Given the description of an element on the screen output the (x, y) to click on. 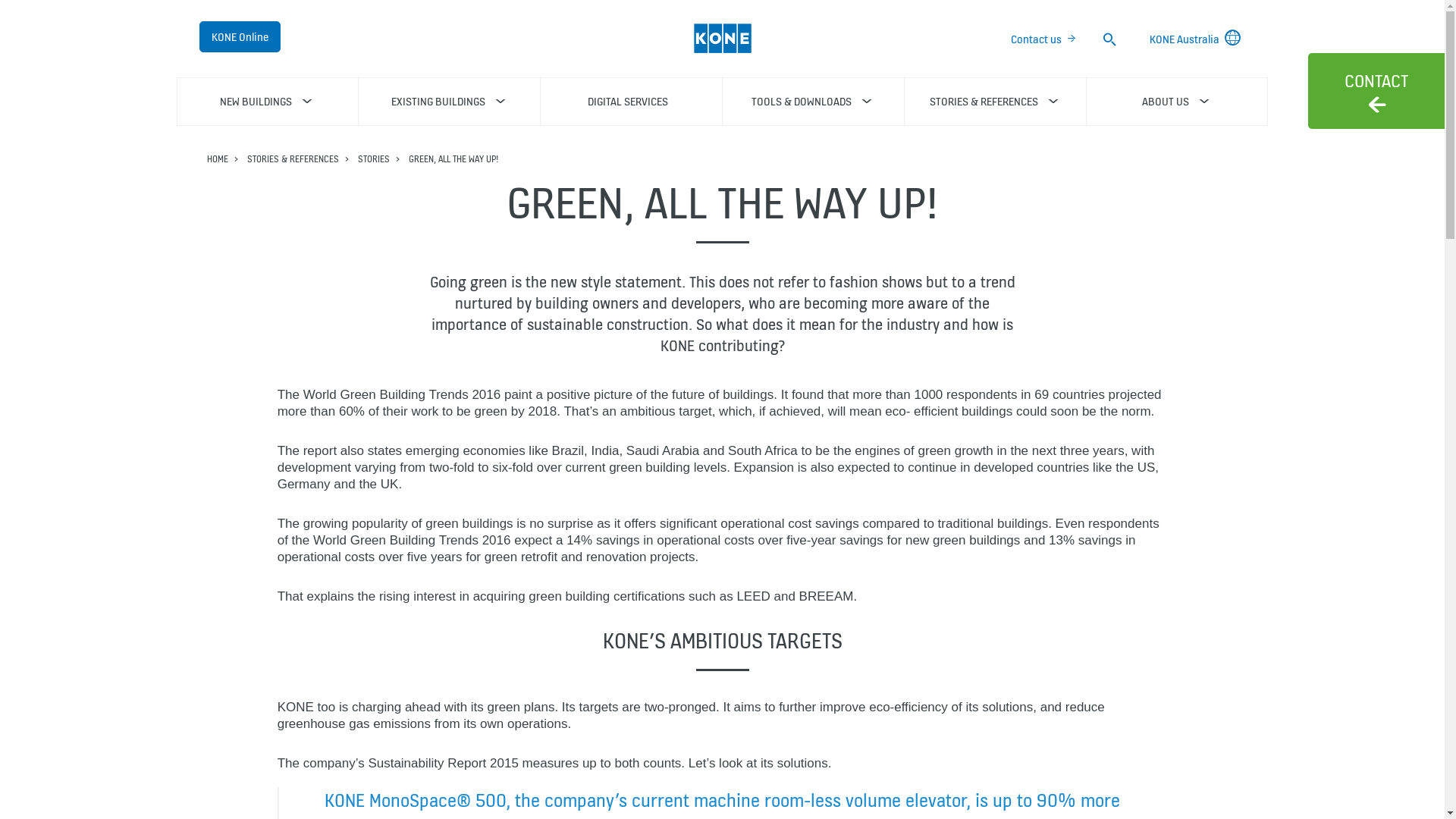
STORIES & REFERENCES Element type: text (292, 158)
STORIES Element type: text (373, 158)
EXISTING BUILDINGS Element type: text (449, 101)
NEW BUILDINGS Element type: text (266, 101)
Contact us Element type: text (1043, 38)
KONE Online Element type: text (238, 36)
DIGITAL SERVICES Element type: text (631, 101)
ABOUT US Element type: text (1176, 101)
STORIES & REFERENCES Element type: text (995, 101)
HOME Element type: text (216, 158)
KONE Australia Element type: text (1197, 38)
TOOLS & DOWNLOADS Element type: text (812, 101)
